Given the description of an element on the screen output the (x, y) to click on. 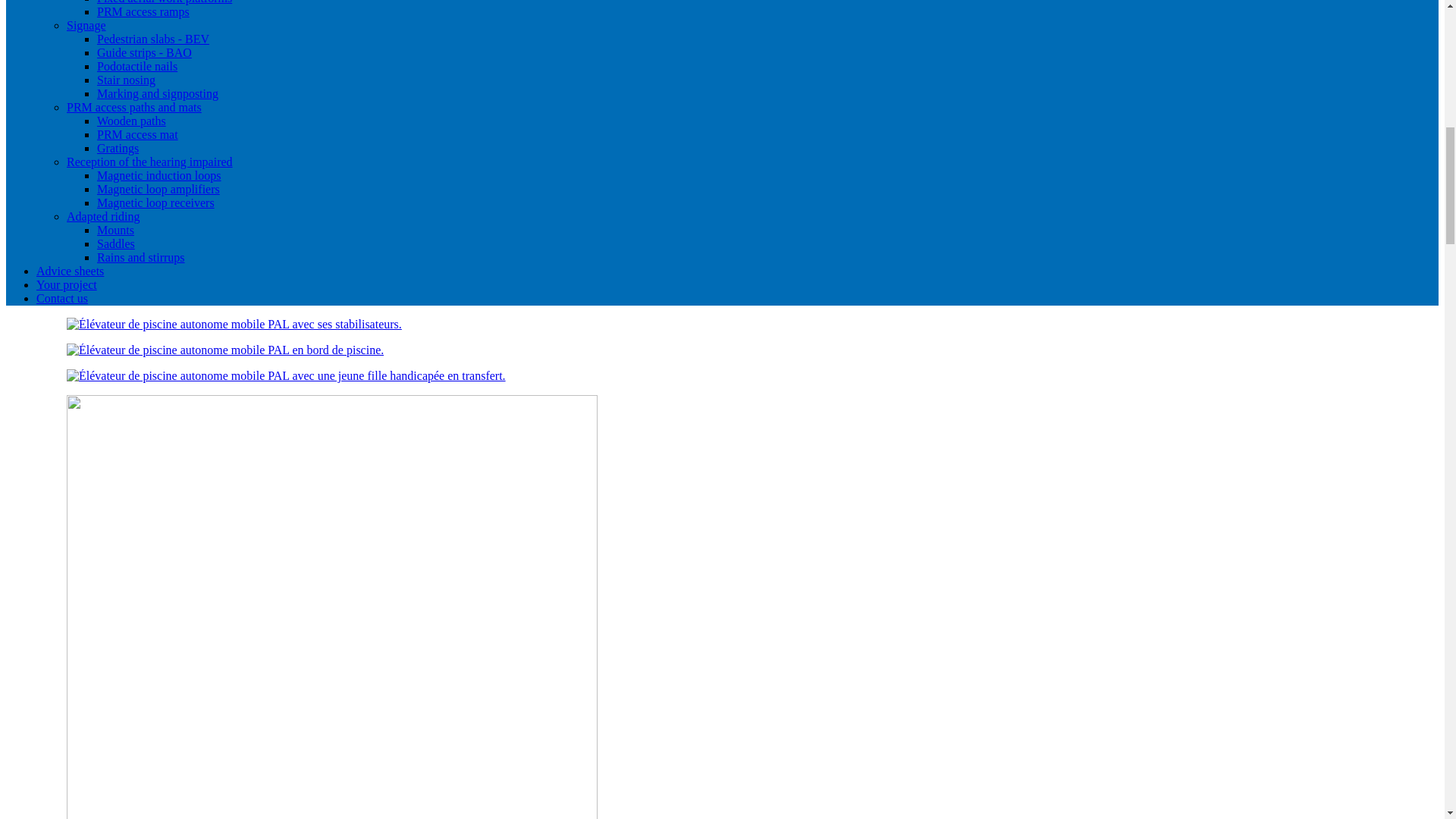
souleve-personne-de-piscine-ele-c-p-scaled-1.jpg (225, 350)
ascenseur-de-piscine-pal-ele-c-p.jpg (285, 376)
elevateur-de-piscine-autonome-pal-scaled-1.jpg (233, 324)
